Given the description of an element on the screen output the (x, y) to click on. 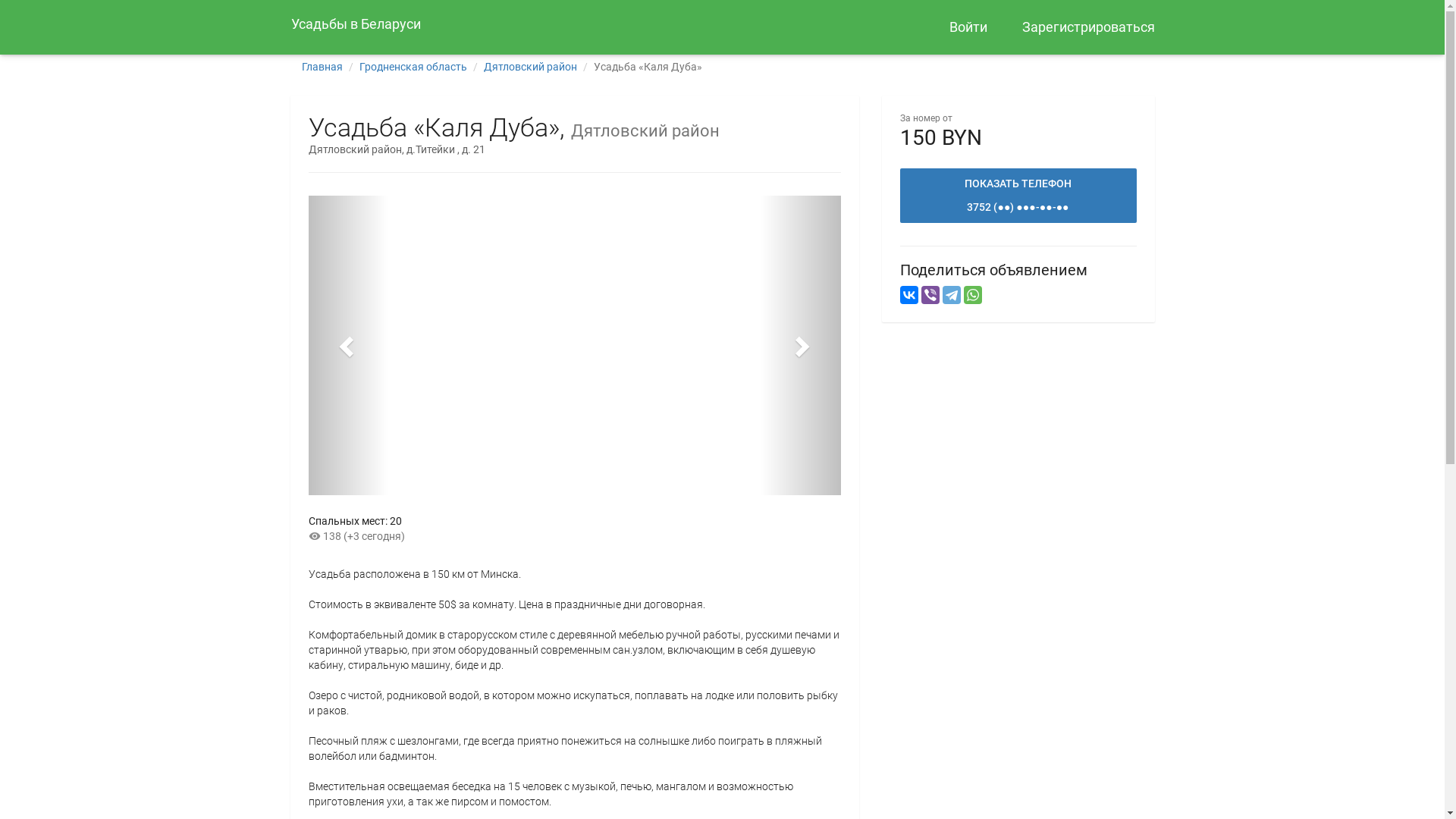
Previous Element type: text (347, 345)
Next Element type: text (800, 345)
Telegram Element type: hover (950, 294)
WhatsApp Element type: hover (972, 294)
Viber Element type: hover (929, 294)
